Given the description of an element on the screen output the (x, y) to click on. 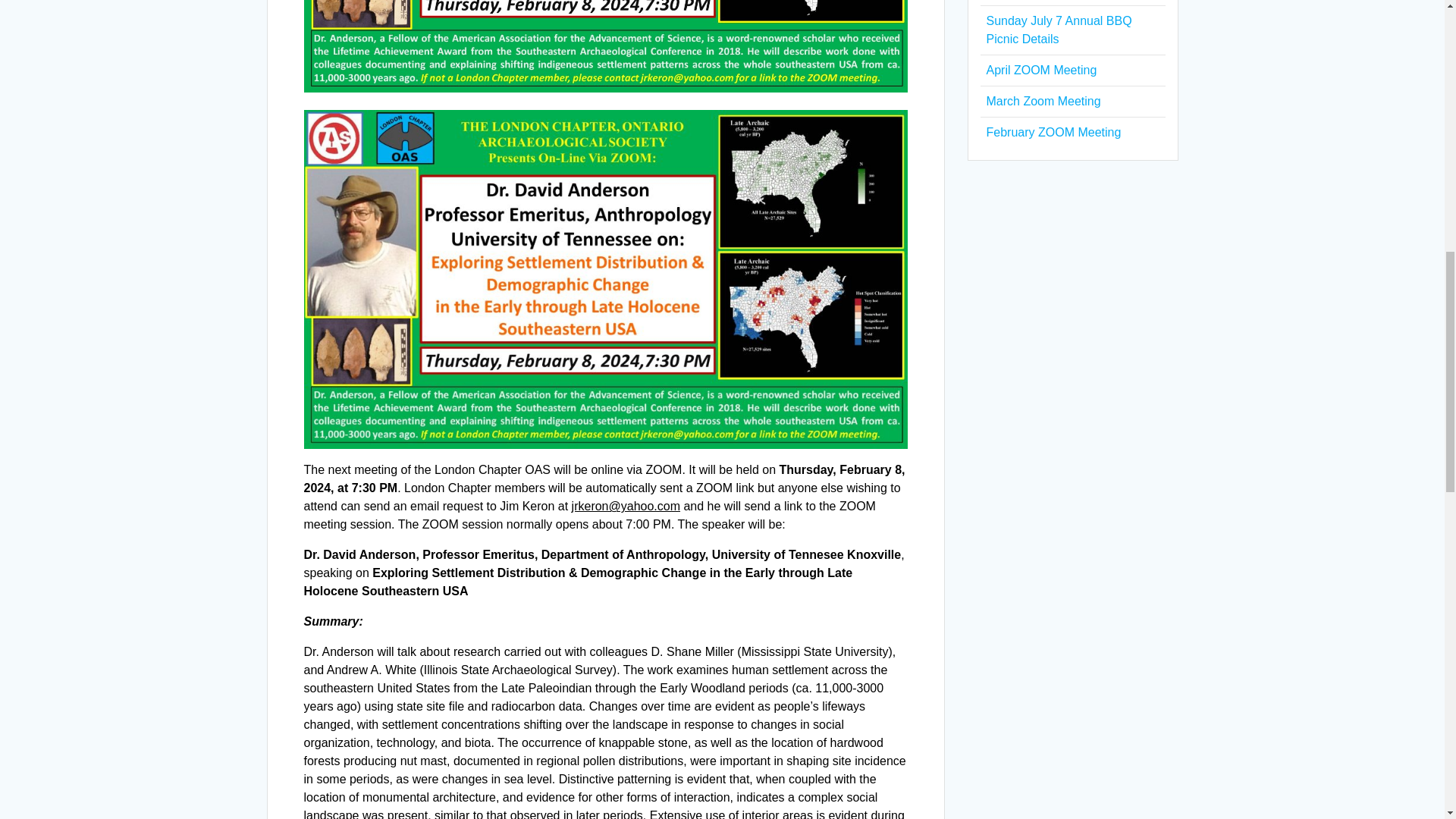
March Zoom Meeting (1042, 101)
April ZOOM Meeting (1040, 69)
Sunday July 7 Annual BBQ Picnic Details (1058, 29)
February ZOOM Meeting (1053, 132)
